Given the description of an element on the screen output the (x, y) to click on. 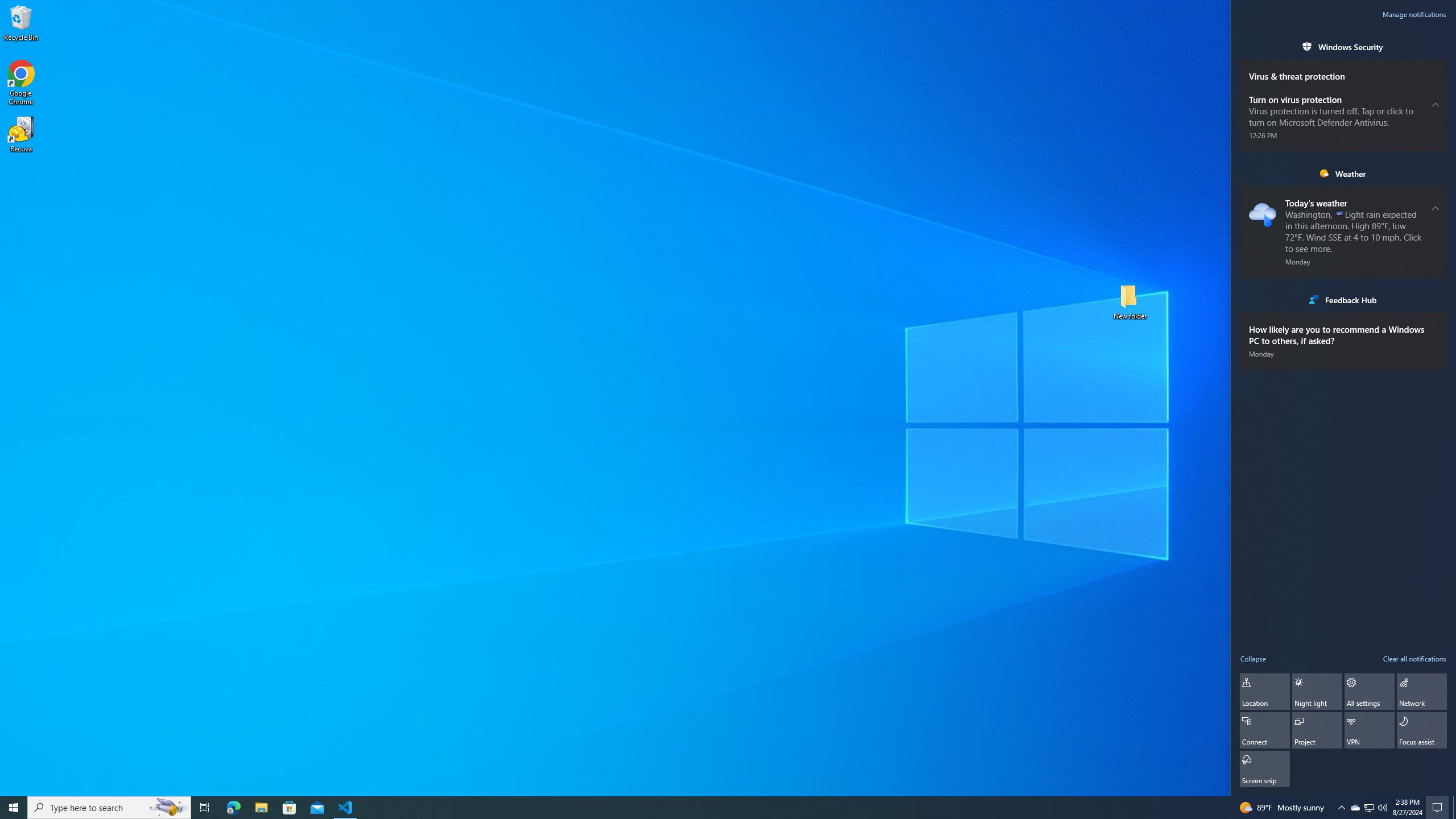
Action Center, No new notifications (1439, 807)
Q2790: 100% (1382, 807)
VPN (1368, 729)
Show desktop (1454, 807)
Clear this notification (1435, 322)
Collapse quick actions (1253, 658)
Manage notifications (1414, 14)
Screen snip (1265, 769)
Virus & threat protection. . Received on . Subgroup. (1343, 70)
Notification Chevron (1341, 807)
Clear all notifications for Feedback Hub (1435, 299)
Visual Studio Code - 1 running window (345, 807)
Clear all notifications for Weather (1435, 173)
Collapse this notification (1435, 207)
